Given the description of an element on the screen output the (x, y) to click on. 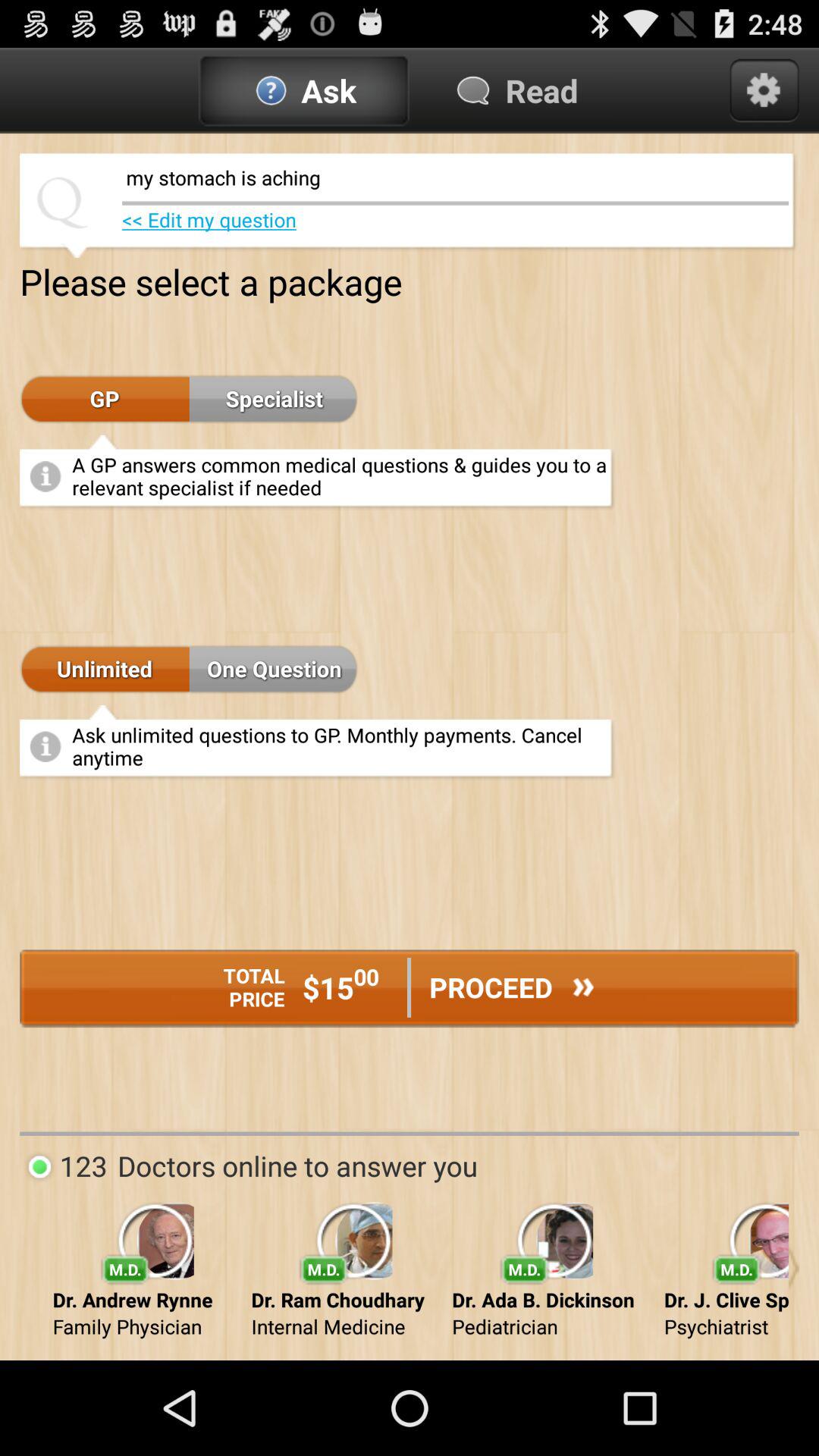
talk to a person (793, 1267)
